Given the description of an element on the screen output the (x, y) to click on. 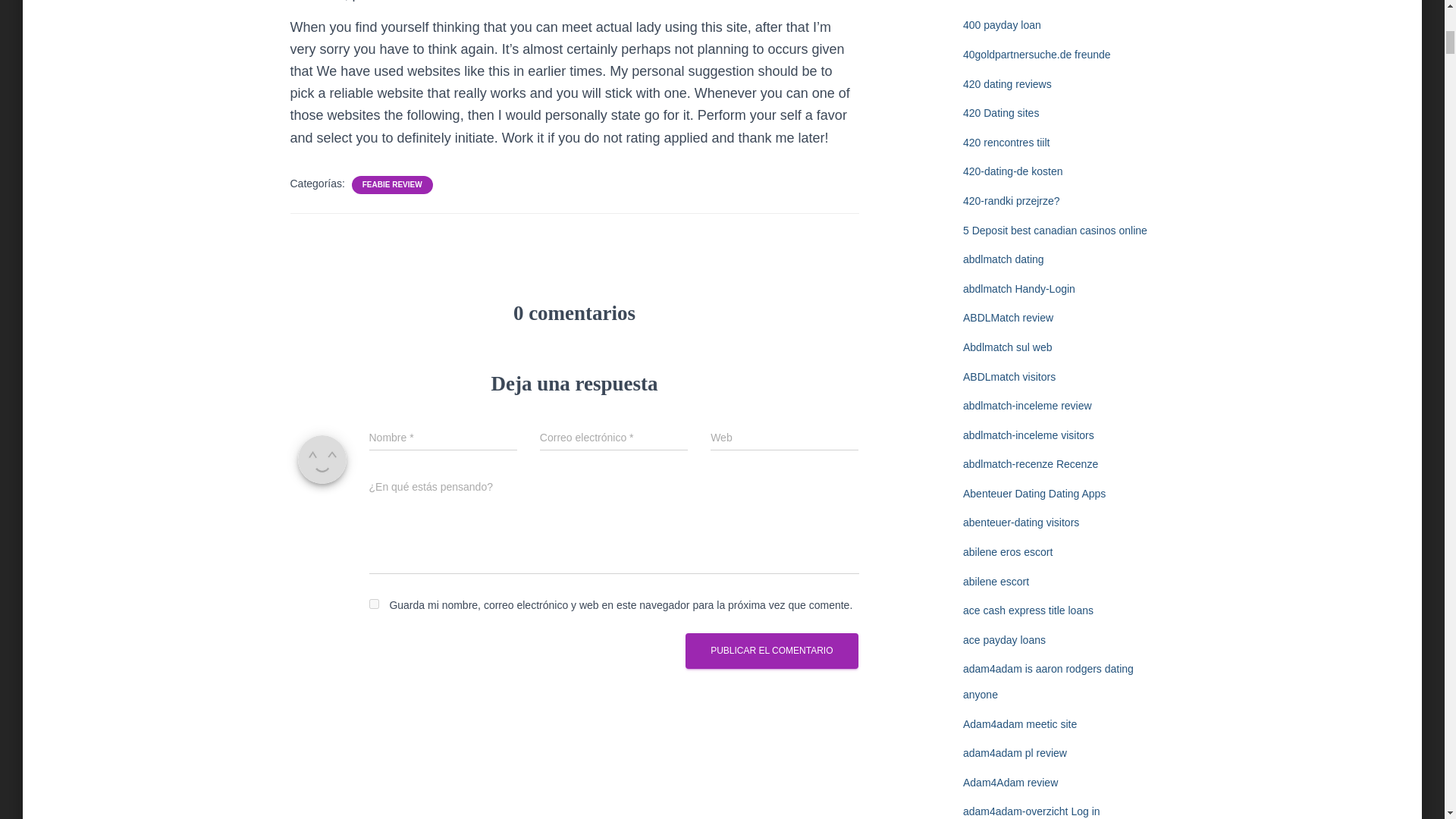
yes (373, 603)
Publicar el comentario (771, 651)
FEABIE REVIEW (392, 184)
Publicar el comentario (771, 651)
